Given the description of an element on the screen output the (x, y) to click on. 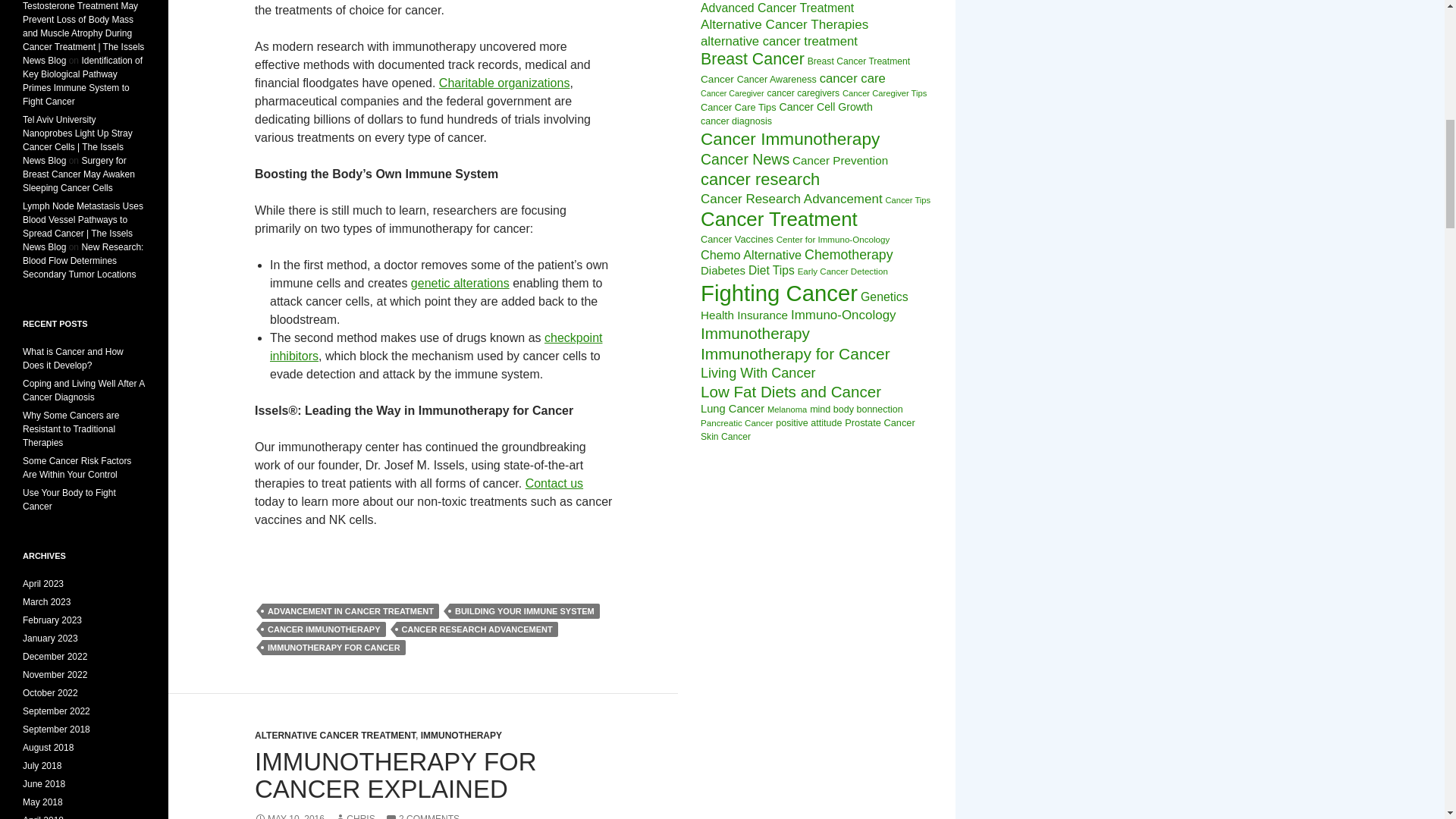
ALTERNATIVE CANCER TREATMENT (334, 735)
2 COMMENTS (422, 816)
IMMUNOTHERAPY FOR CANCER (334, 647)
MAY 10, 2016 (289, 816)
checkpoint inhibitors (435, 346)
IMMUNOTHERAPY FOR CANCER EXPLAINED (395, 775)
genetic alterations (459, 282)
CANCER RESEARCH ADVANCEMENT (476, 629)
BUILDING YOUR IMMUNE SYSTEM (524, 611)
IMMUNOTHERAPY (461, 735)
